Given the description of an element on the screen output the (x, y) to click on. 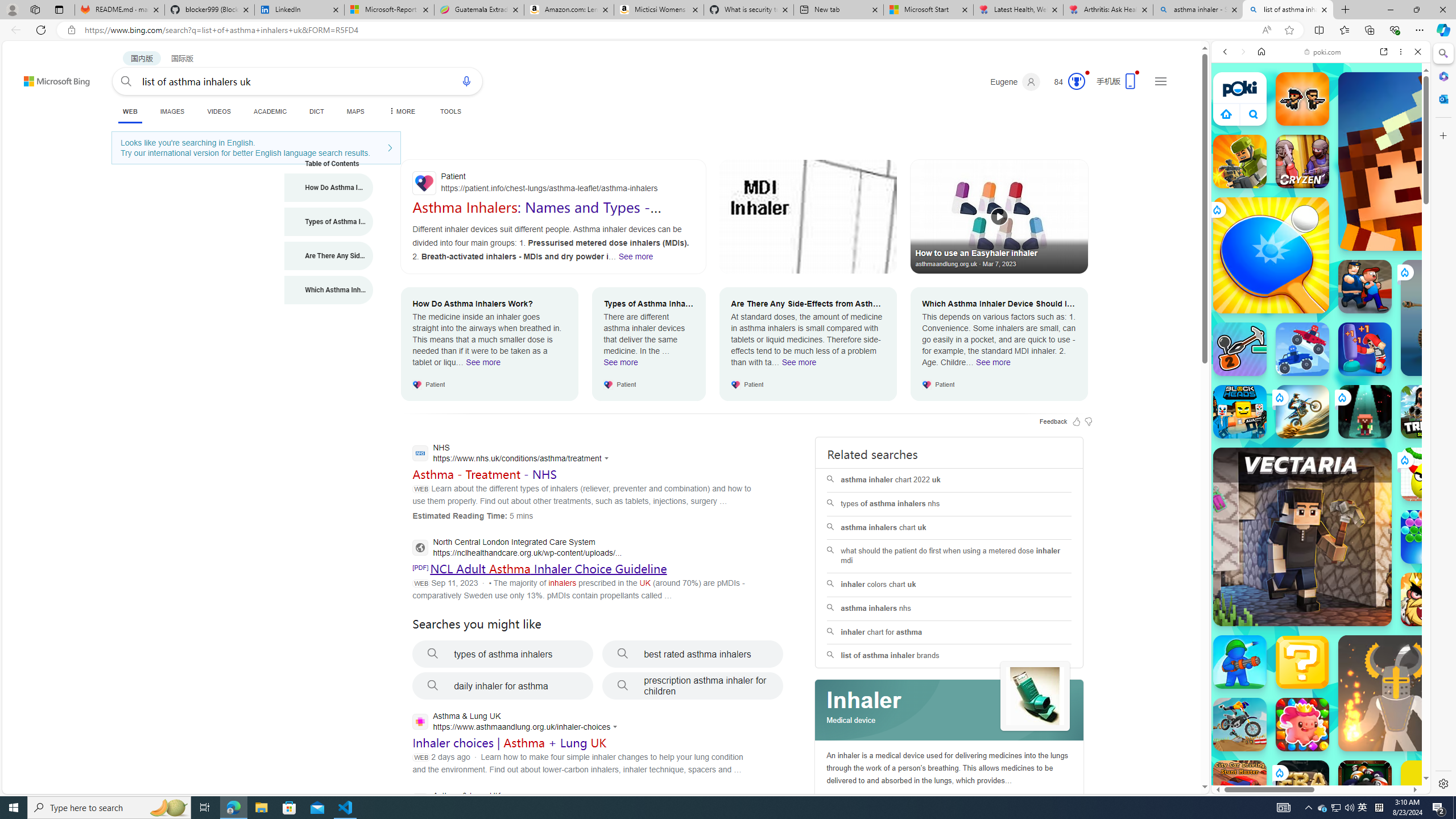
Escape From School (1364, 286)
Blockheads (1239, 411)
DICT (316, 111)
Era: Evolution Era: Evolution (1302, 787)
Search Filter, IMAGES (1262, 129)
Types of Asthma Inhalers (328, 221)
AutomationID: mfa_root (1161, 752)
Ragdoll Hit (1396, 693)
list of asthma inhaler brands (949, 656)
Blockheads Blockheads (1239, 411)
Car Games (1320, 267)
North Central London Integrated Care System (516, 549)
